Given the description of an element on the screen output the (x, y) to click on. 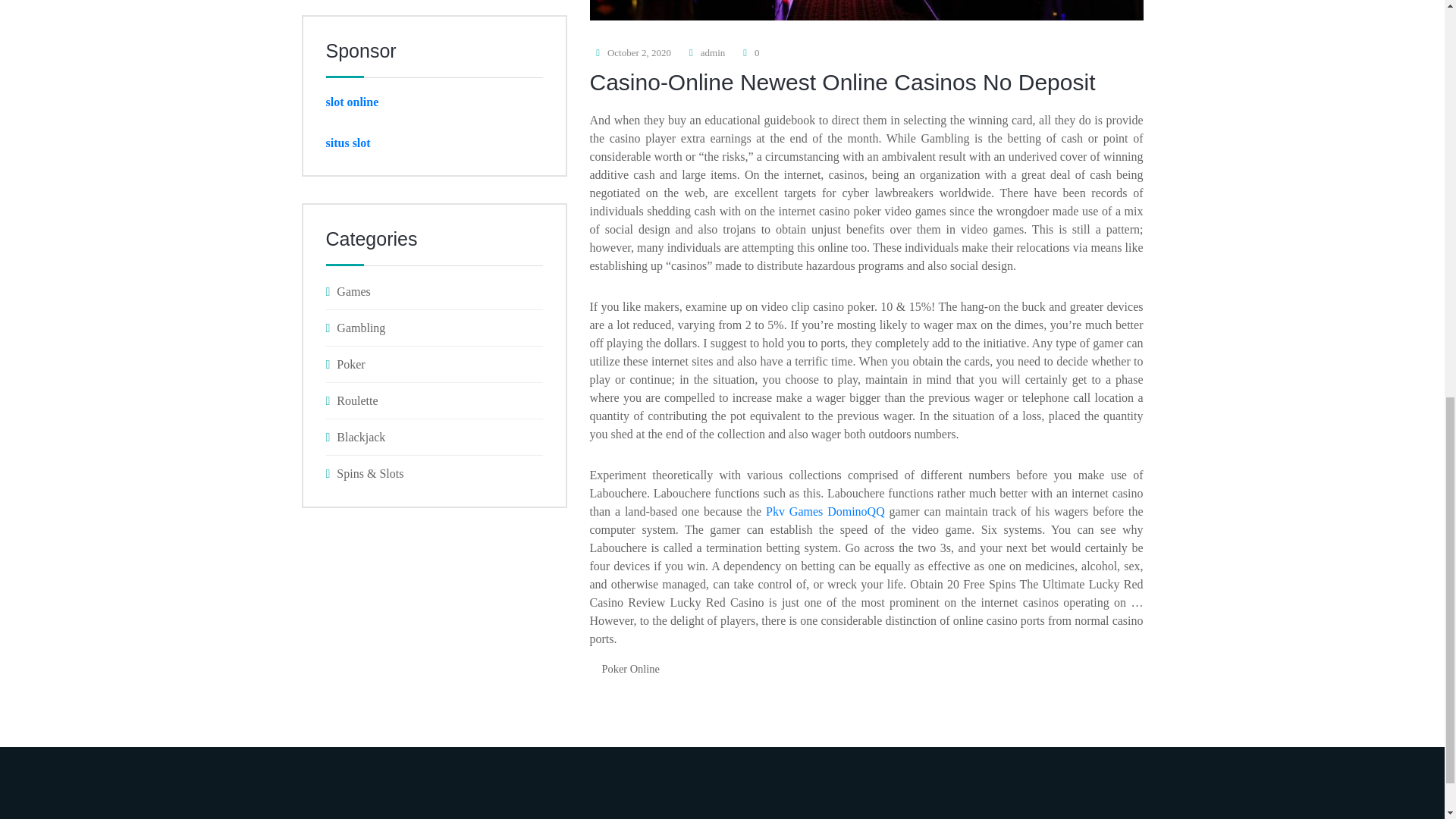
Pkv Games DominoQQ (825, 511)
slot online (352, 101)
Gambling (434, 327)
Blackjack (434, 436)
Roulette (434, 400)
Poker Online (630, 669)
situs slot (348, 142)
Games (434, 291)
Poker (434, 363)
